Given the description of an element on the screen output the (x, y) to click on. 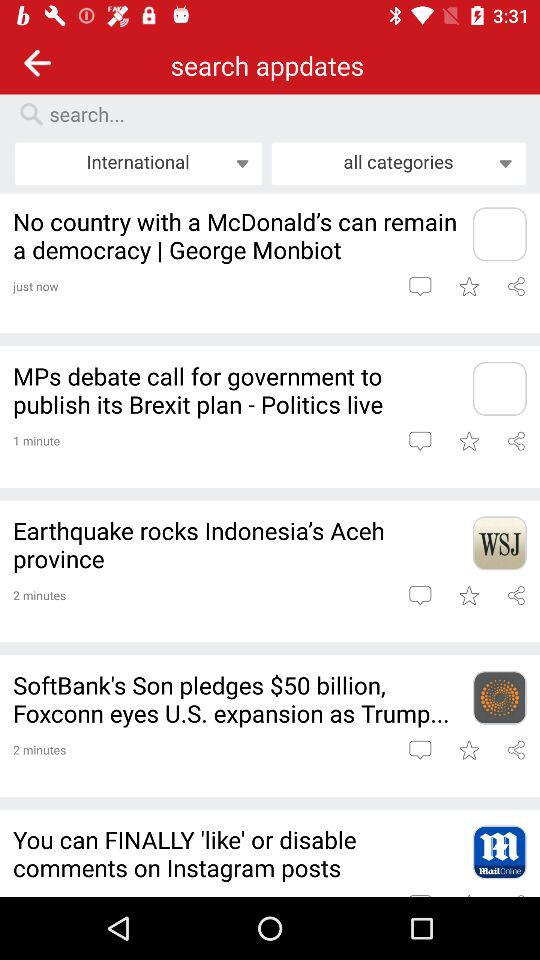
jump to all categories (398, 163)
